Given the description of an element on the screen output the (x, y) to click on. 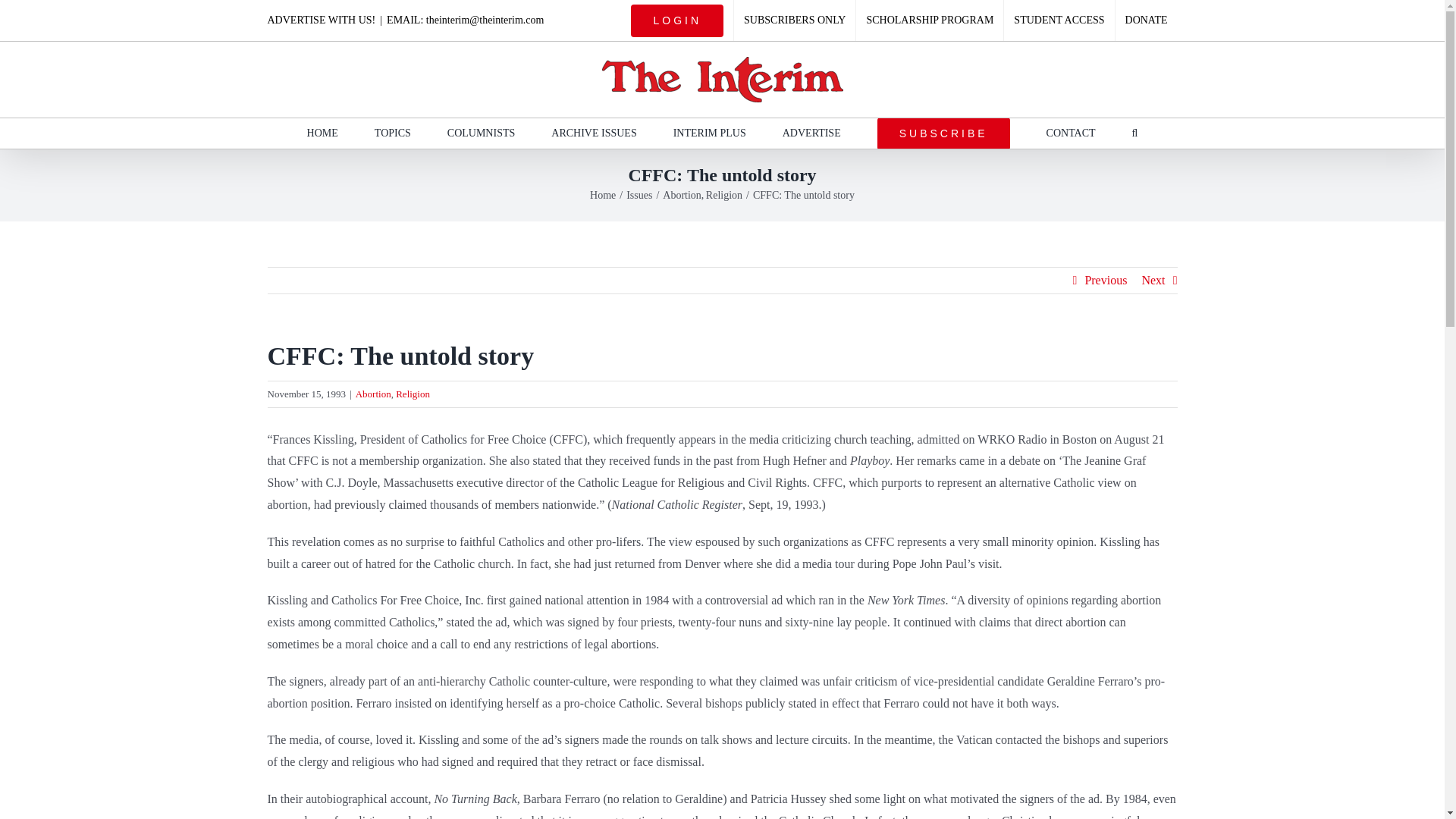
ADVERTISE (812, 132)
LOGIN (677, 20)
ARCHIVE ISSUES (593, 132)
STUDENT ACCESS (1058, 20)
Abortion (373, 393)
TOPICS (392, 132)
Home (602, 194)
DONATE (1146, 20)
CONTACT (1071, 132)
HOME (322, 132)
